Given the description of an element on the screen output the (x, y) to click on. 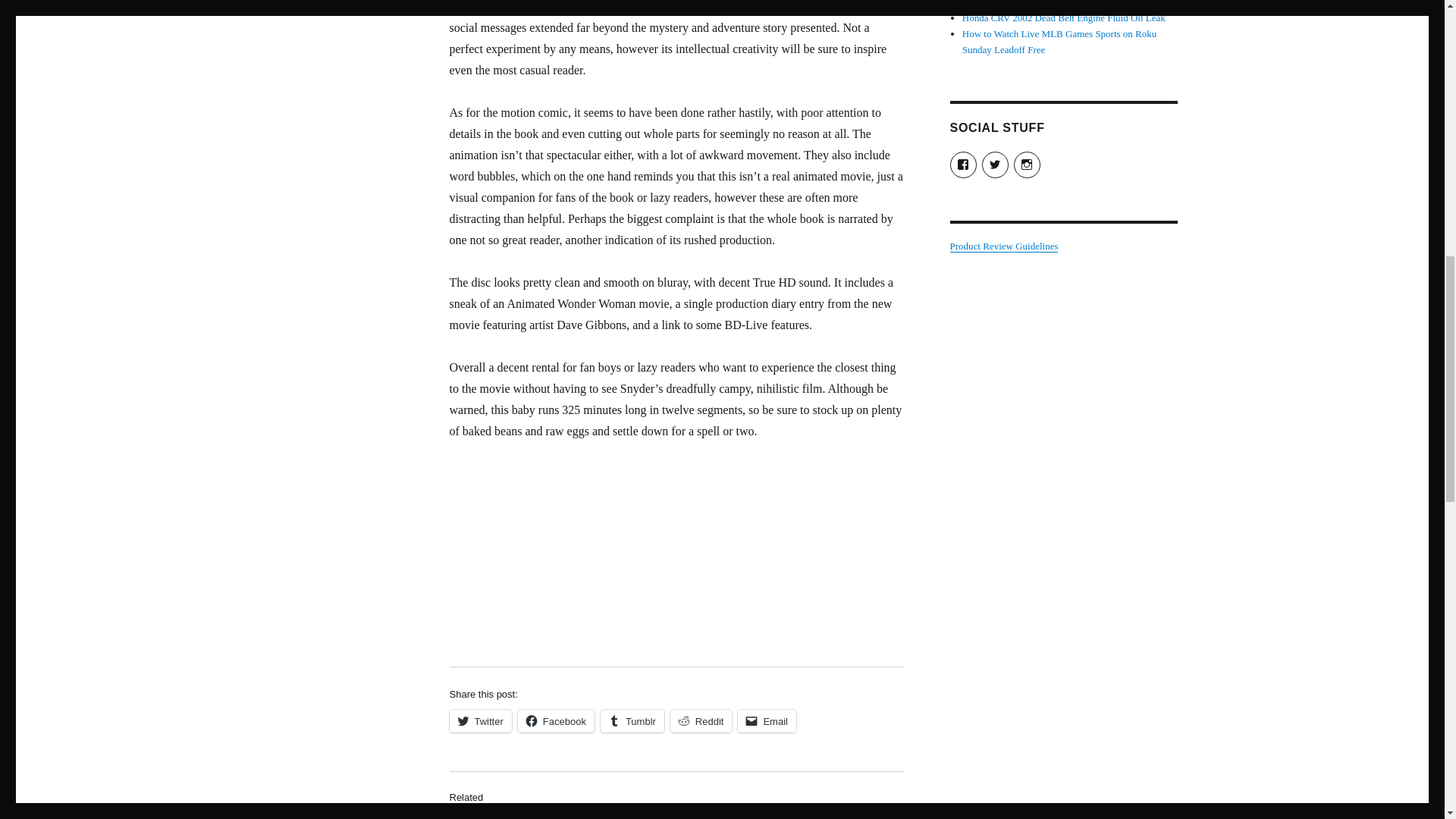
Click to share on Reddit (700, 721)
Tumblr (631, 721)
Click to share on Twitter (479, 721)
Two downloadable Watchmen games confirmed (676, 816)
Click to email a link to a friend (767, 721)
Email (767, 721)
Twitter (479, 721)
Click to share on Facebook (556, 721)
